Given the description of an element on the screen output the (x, y) to click on. 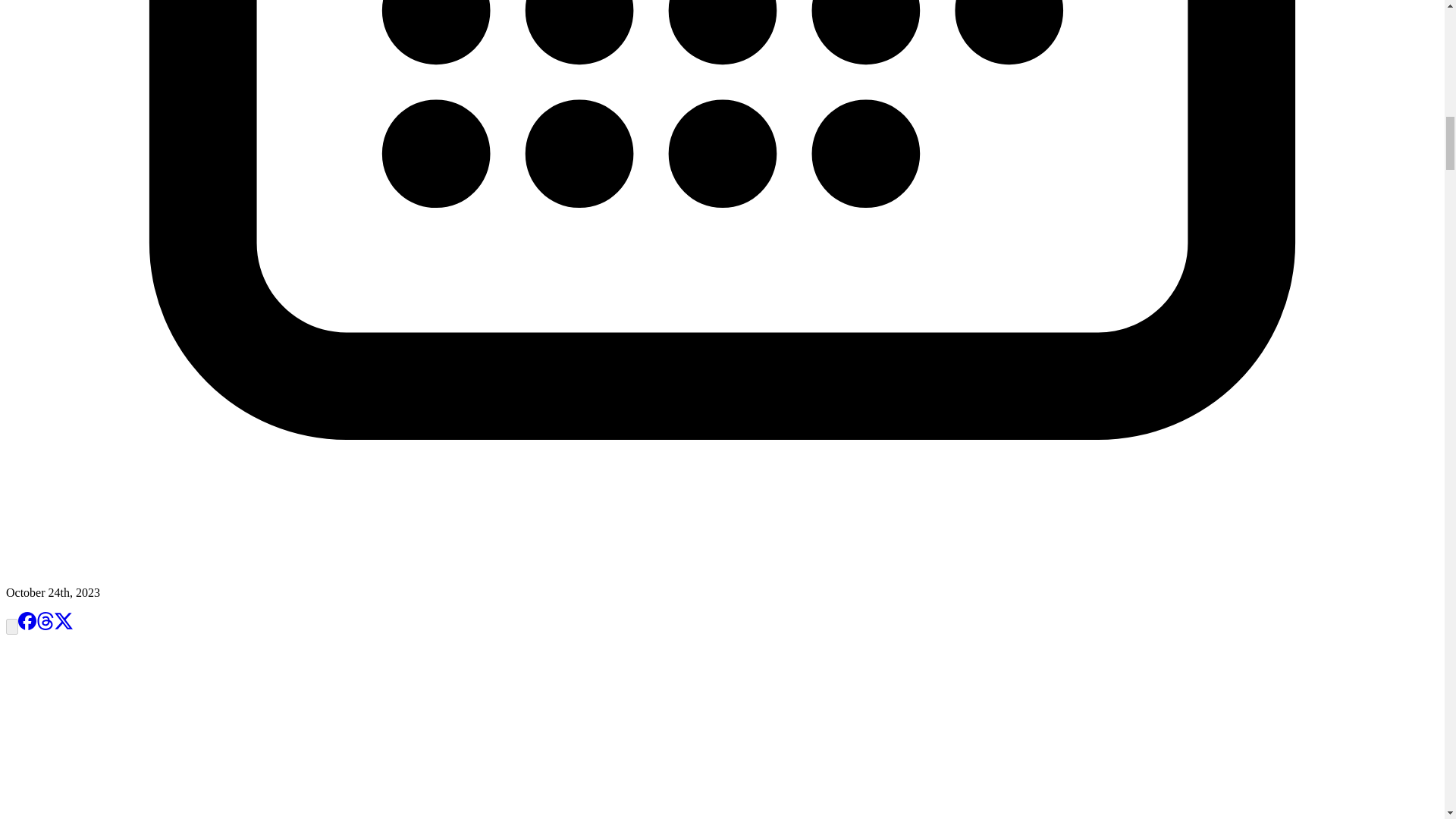
Threads (45, 620)
Facebook (26, 625)
X (63, 620)
Share to Facebook (26, 625)
Share to Threads (45, 625)
Threads (45, 625)
Facebook (26, 620)
X (63, 625)
